Given the description of an element on the screen output the (x, y) to click on. 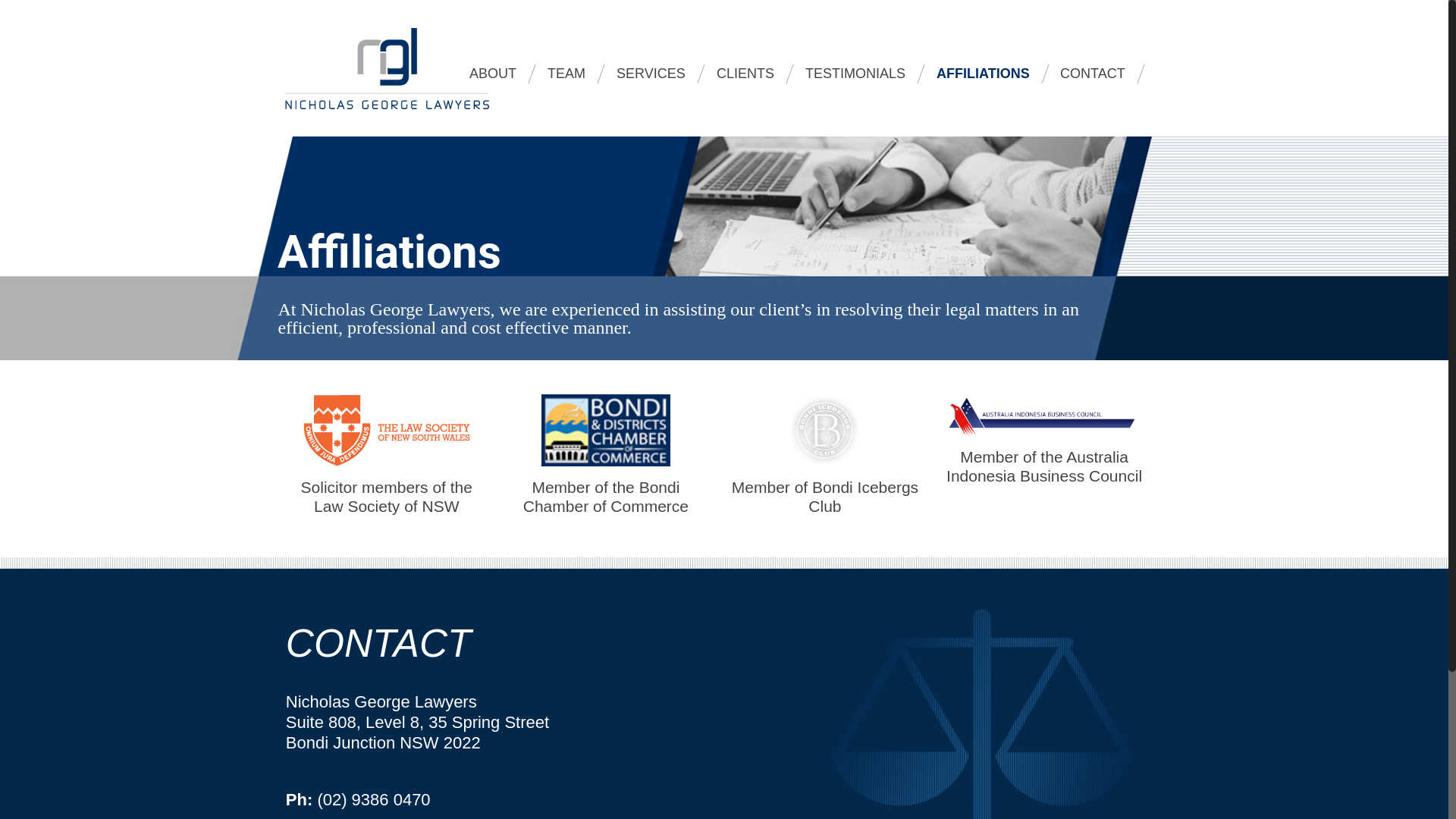
ABOUT Element type: text (493, 79)
SERVICES Element type: text (651, 79)
CONTACT Element type: text (1092, 79)
AFFILIATIONS Element type: text (983, 79)
CLIENTS Element type: text (745, 79)
TESTIMONIALS Element type: text (855, 79)
TEAM Element type: text (566, 79)
(02) 9386 0470 Element type: text (372, 799)
Nicholas George Lawyers - BONDI JUNCTION Element type: hover (386, 68)
